Given the description of an element on the screen output the (x, y) to click on. 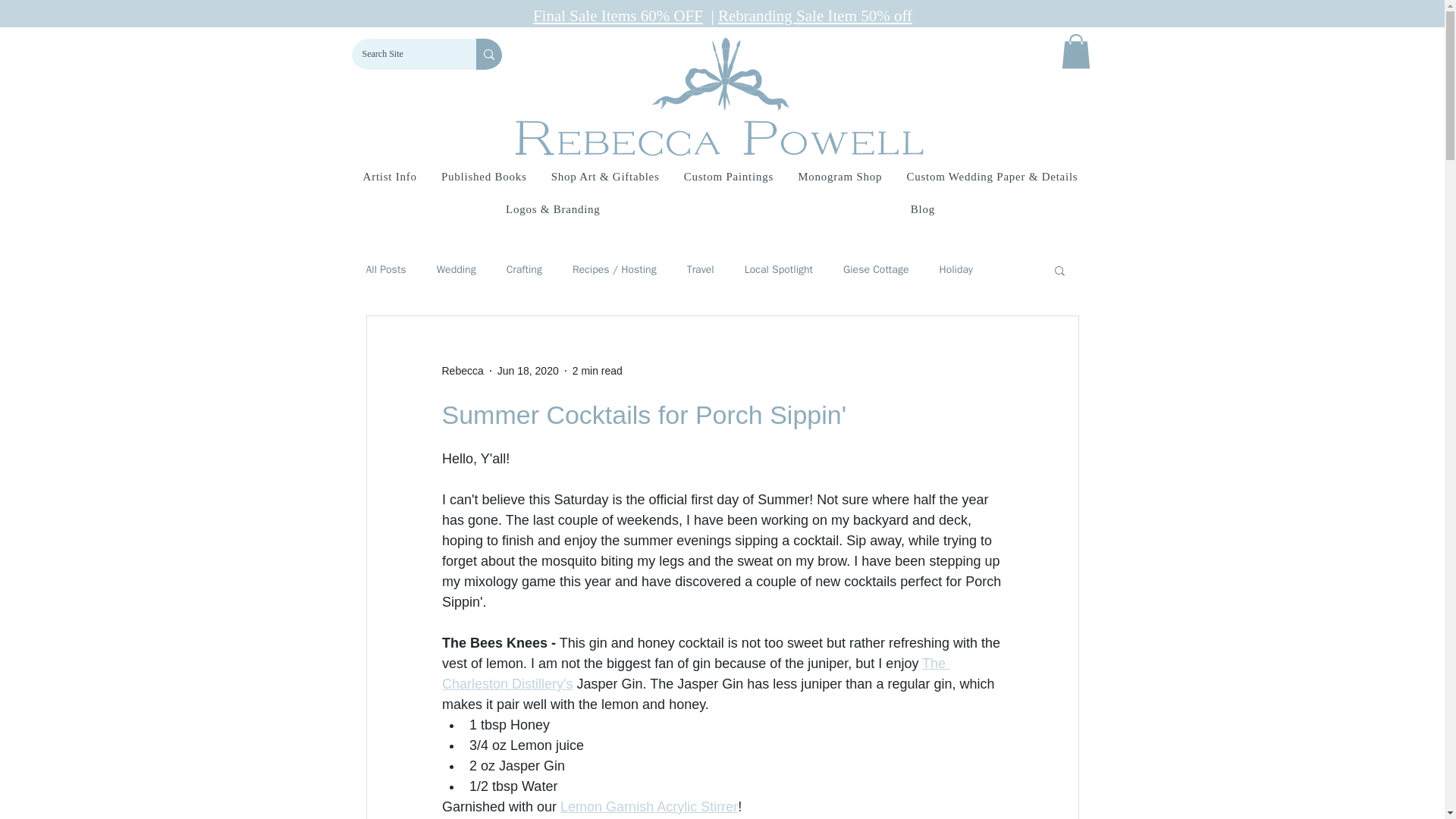
Wedding (456, 269)
Jun 18, 2020 (528, 369)
Crafting (523, 269)
Lemon Garnish Acrylic Stirrer (649, 806)
The Charleston Distillery's (695, 673)
Local Spotlight (778, 269)
Custom Paintings (728, 176)
Monogram Shop (839, 176)
Giese Cottage (875, 269)
Travel (700, 269)
Published Books (483, 176)
Holiday (955, 269)
2 min read (597, 369)
All Posts (385, 269)
Blog (922, 209)
